Given the description of an element on the screen output the (x, y) to click on. 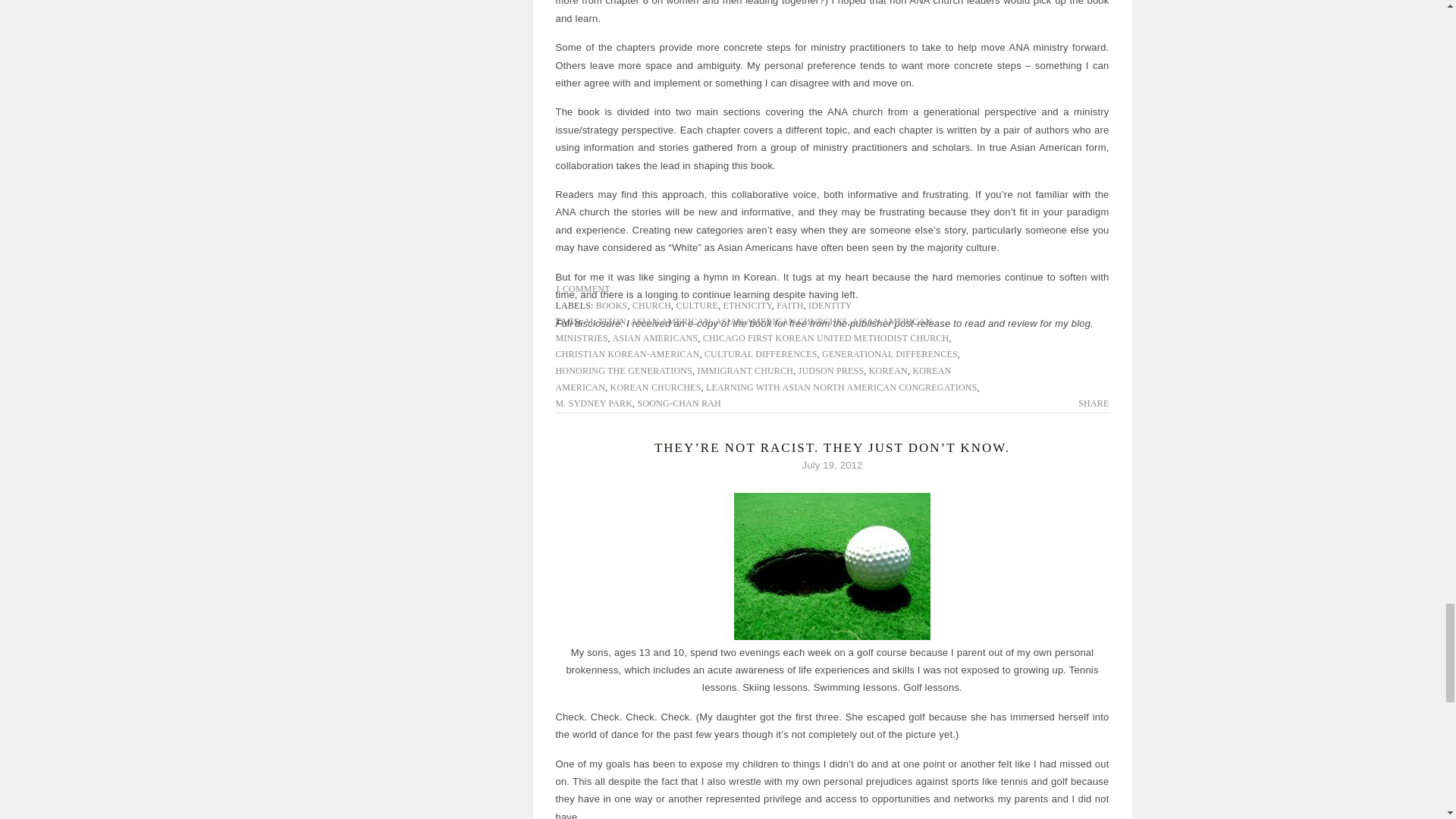
images (831, 566)
